Given the description of an element on the screen output the (x, y) to click on. 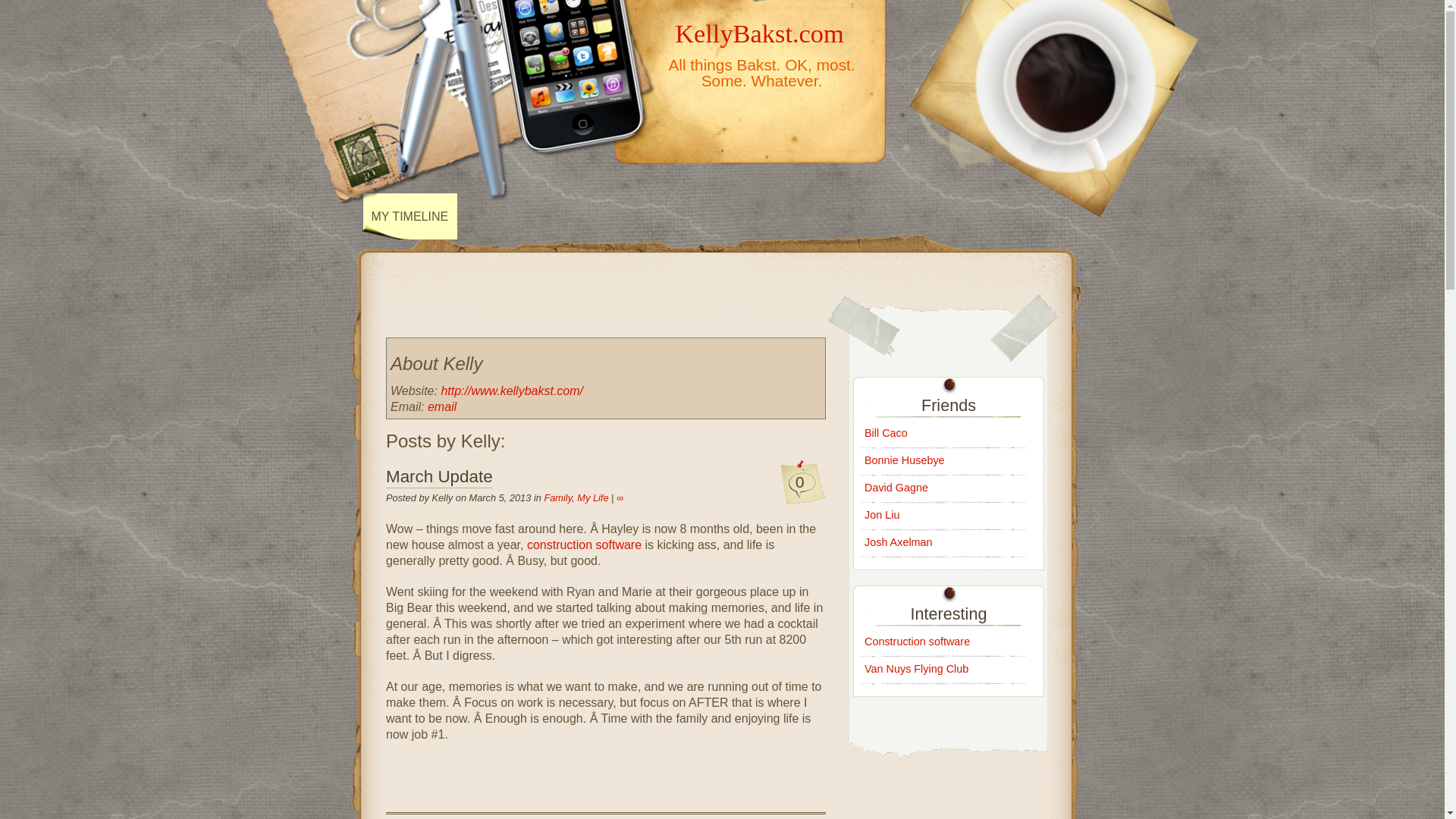
construction software (584, 544)
KellyBakst.com (759, 32)
March Update (439, 477)
email (442, 406)
Permanent Link to March Update (439, 477)
KellyBakst.com (759, 32)
My Life (592, 497)
Awesome! (584, 544)
Family (557, 497)
MY TIMELINE (410, 216)
